Given the description of an element on the screen output the (x, y) to click on. 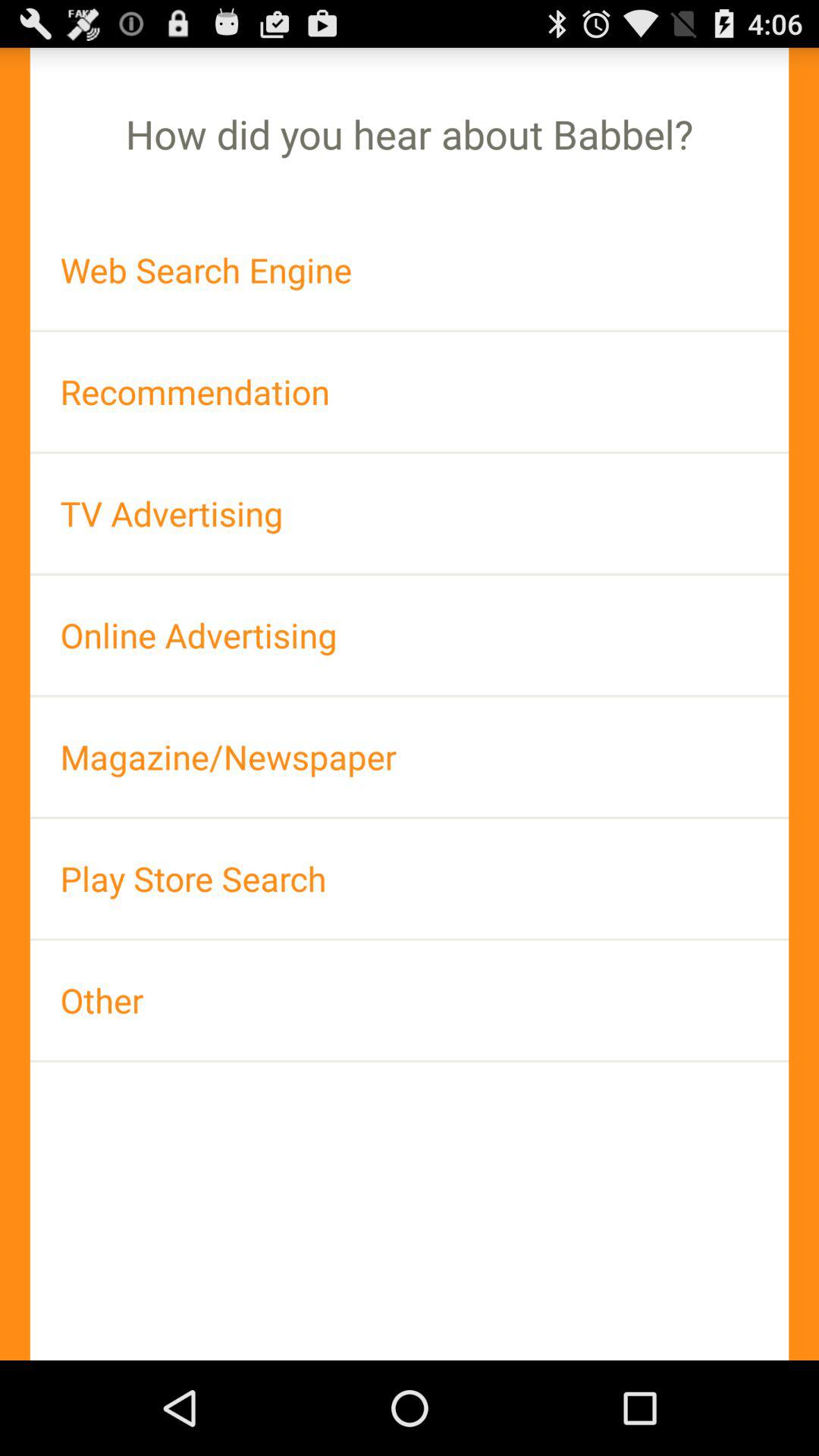
click item below the play store search app (409, 1000)
